Given the description of an element on the screen output the (x, y) to click on. 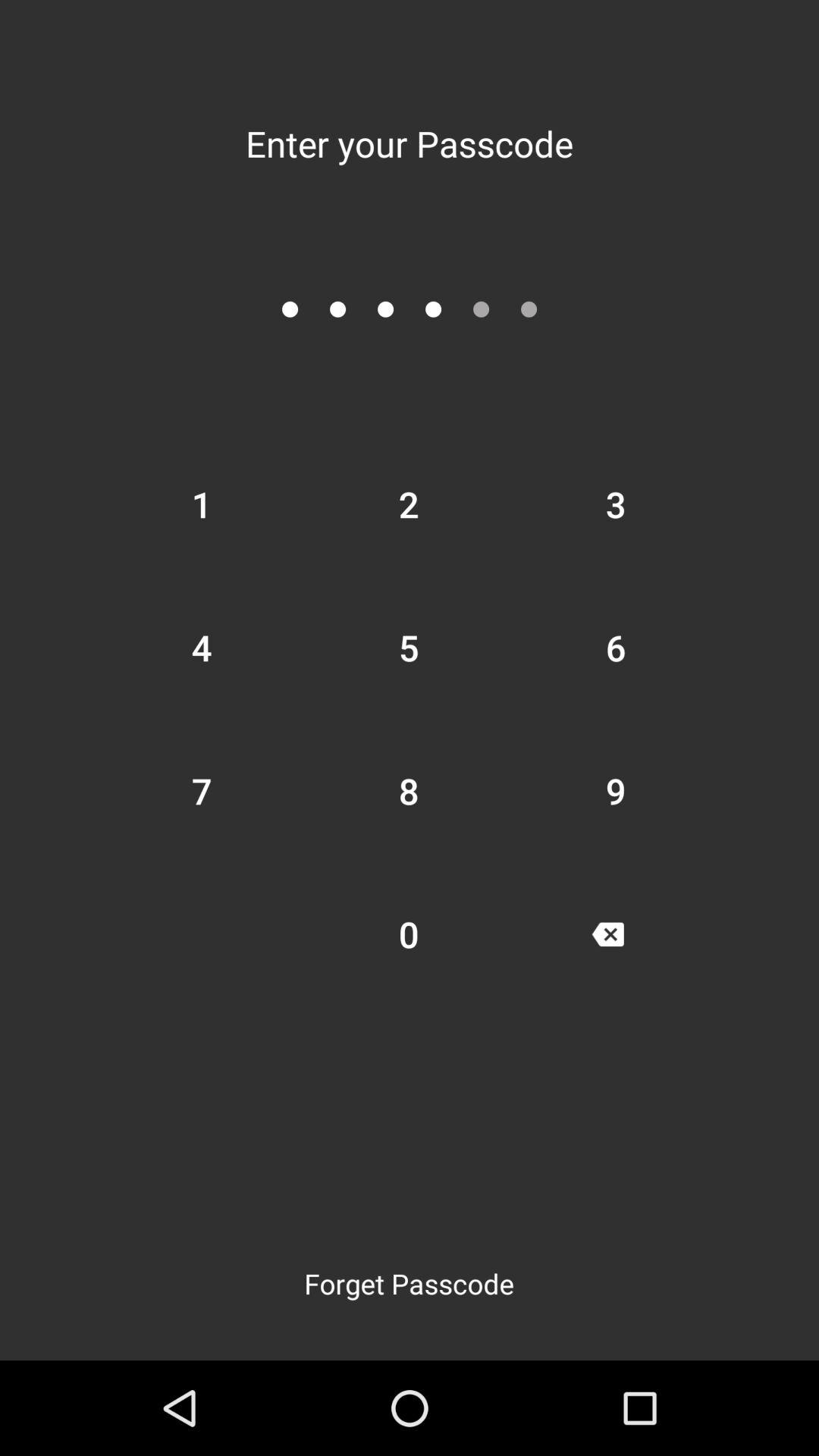
go to backspace (608, 934)
